Given the description of an element on the screen output the (x, y) to click on. 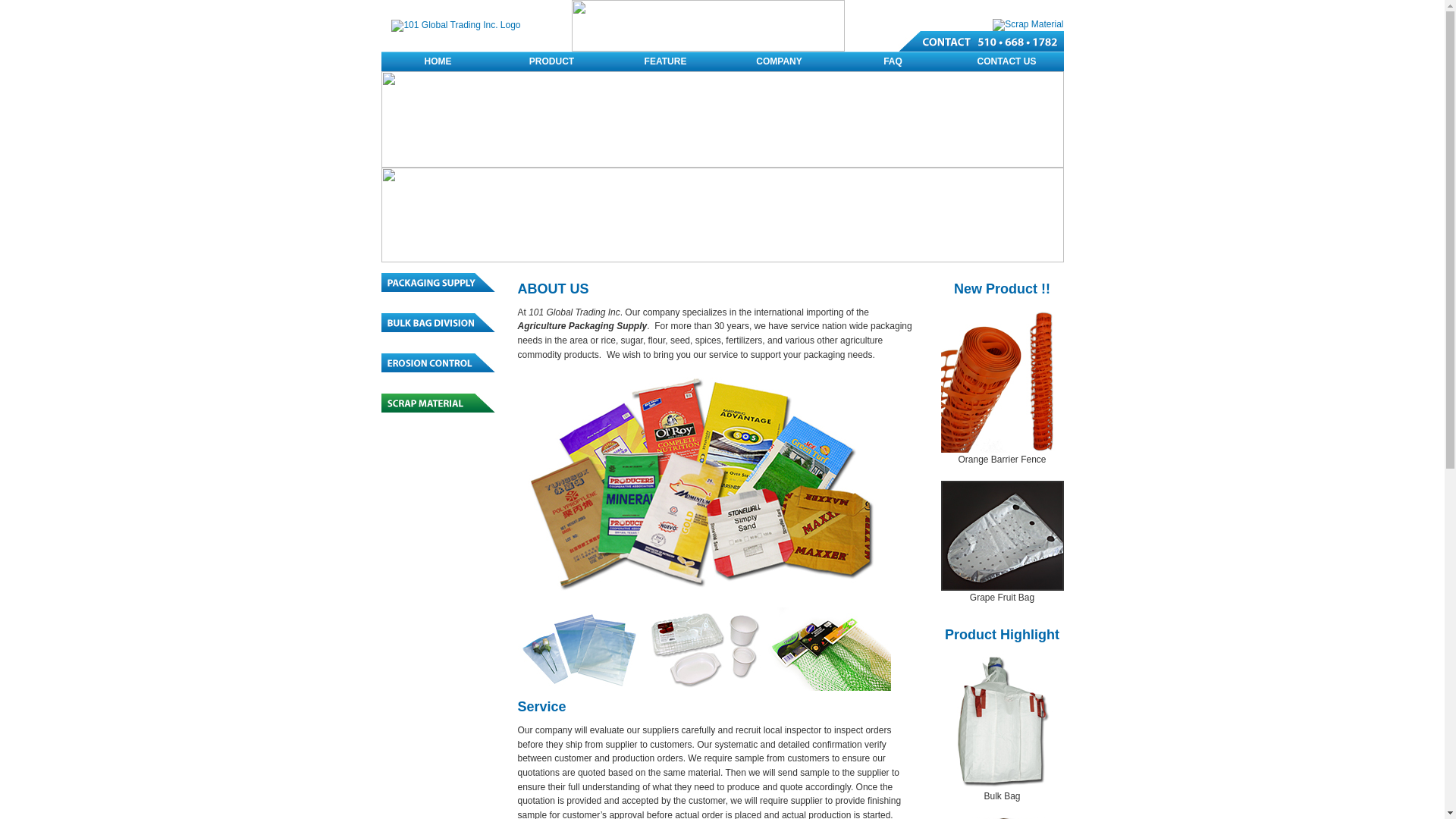
CONTACT US Element type: text (1006, 61)
PRODUCT Element type: text (551, 61)
HOME Element type: text (437, 61)
COMPANY Element type: text (778, 61)
FAQ Element type: text (892, 61)
FEATURE Element type: text (664, 61)
